Given the description of an element on the screen output the (x, y) to click on. 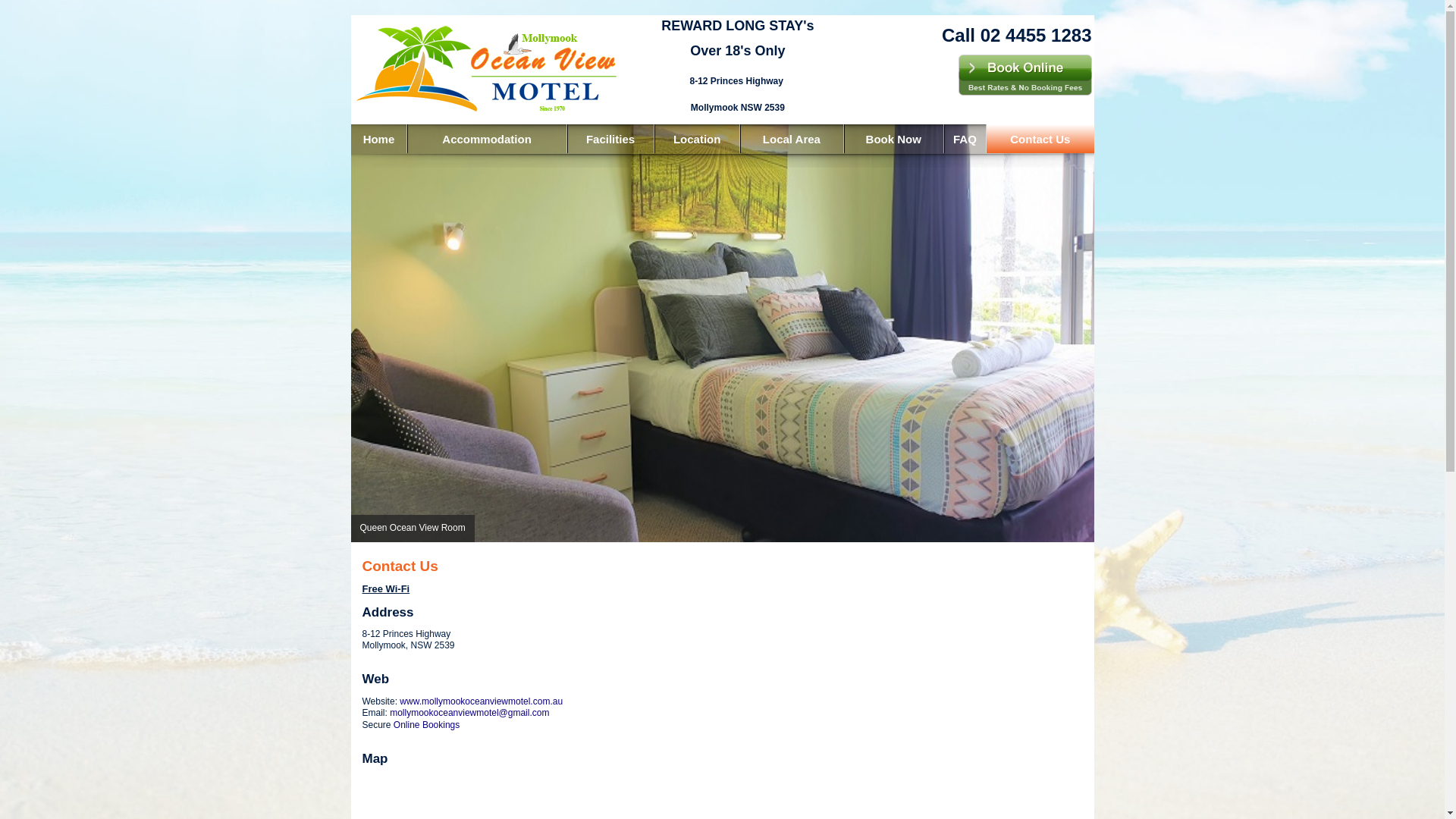
Mollymook Ocean View Motel Element type: hover (485, 69)
Contact Us Element type: text (1039, 138)
www.mollymookoceanviewmotel.com.au Element type: text (480, 701)
FAQ Element type: text (964, 138)
Book Accommodation at Ocean View Motel Online Element type: hover (1025, 74)
mollymookoceanviewmotel@gmail.com Element type: text (469, 712)
Local Area Element type: text (791, 138)
Accommodation Element type: text (486, 138)
Online Bookings Element type: text (426, 724)
Home Element type: text (378, 138)
Location Element type: text (696, 138)
Book Now Element type: text (893, 138)
Facilities Element type: text (610, 138)
